Given the description of an element on the screen output the (x, y) to click on. 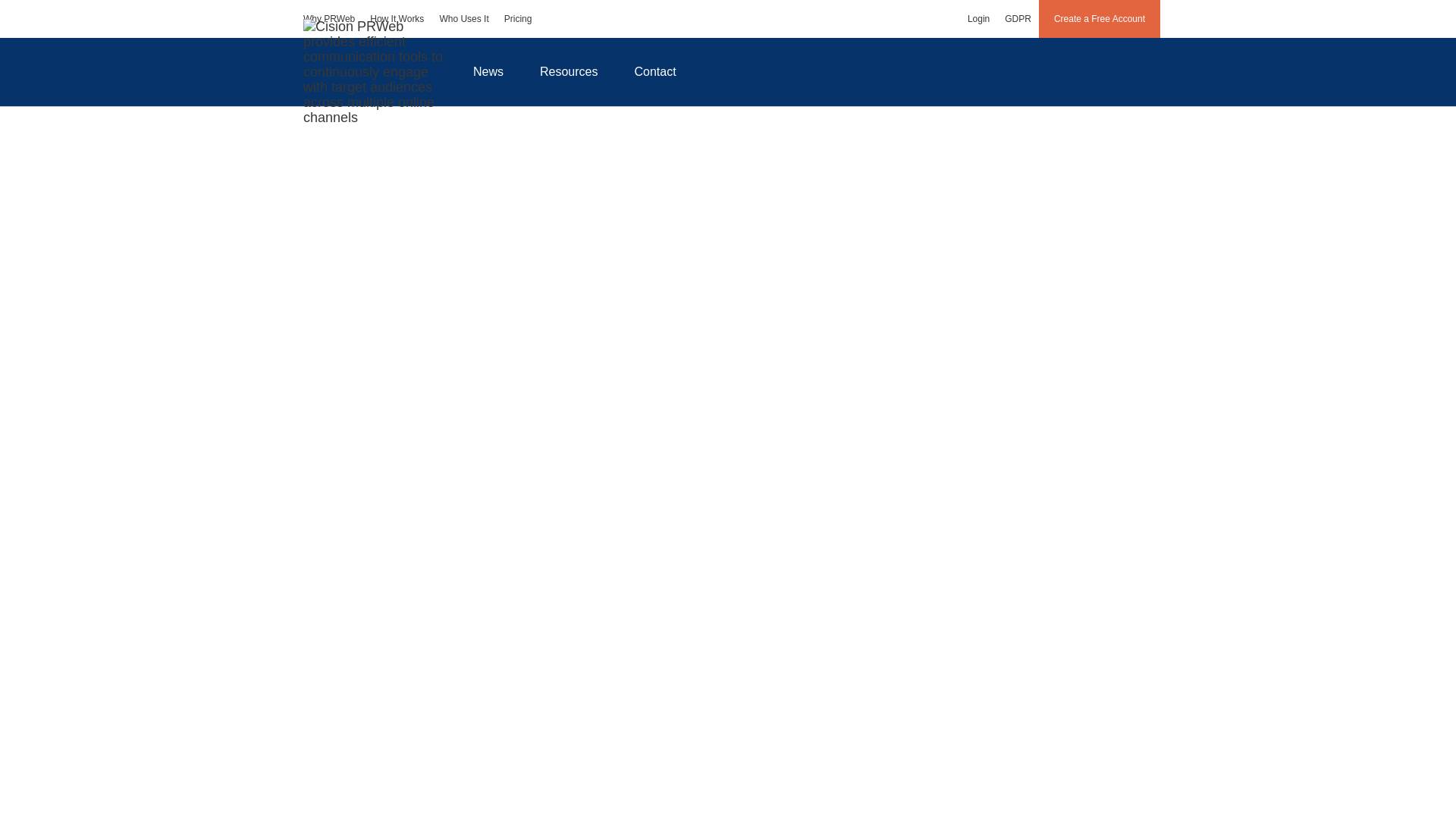
Who Uses It (463, 18)
Resources (568, 71)
Login (978, 18)
GDPR (1018, 18)
Create a Free Account (1099, 18)
News (487, 71)
Pricing (518, 18)
How It Works (396, 18)
Why PRWeb (328, 18)
Contact (654, 71)
